Given the description of an element on the screen output the (x, y) to click on. 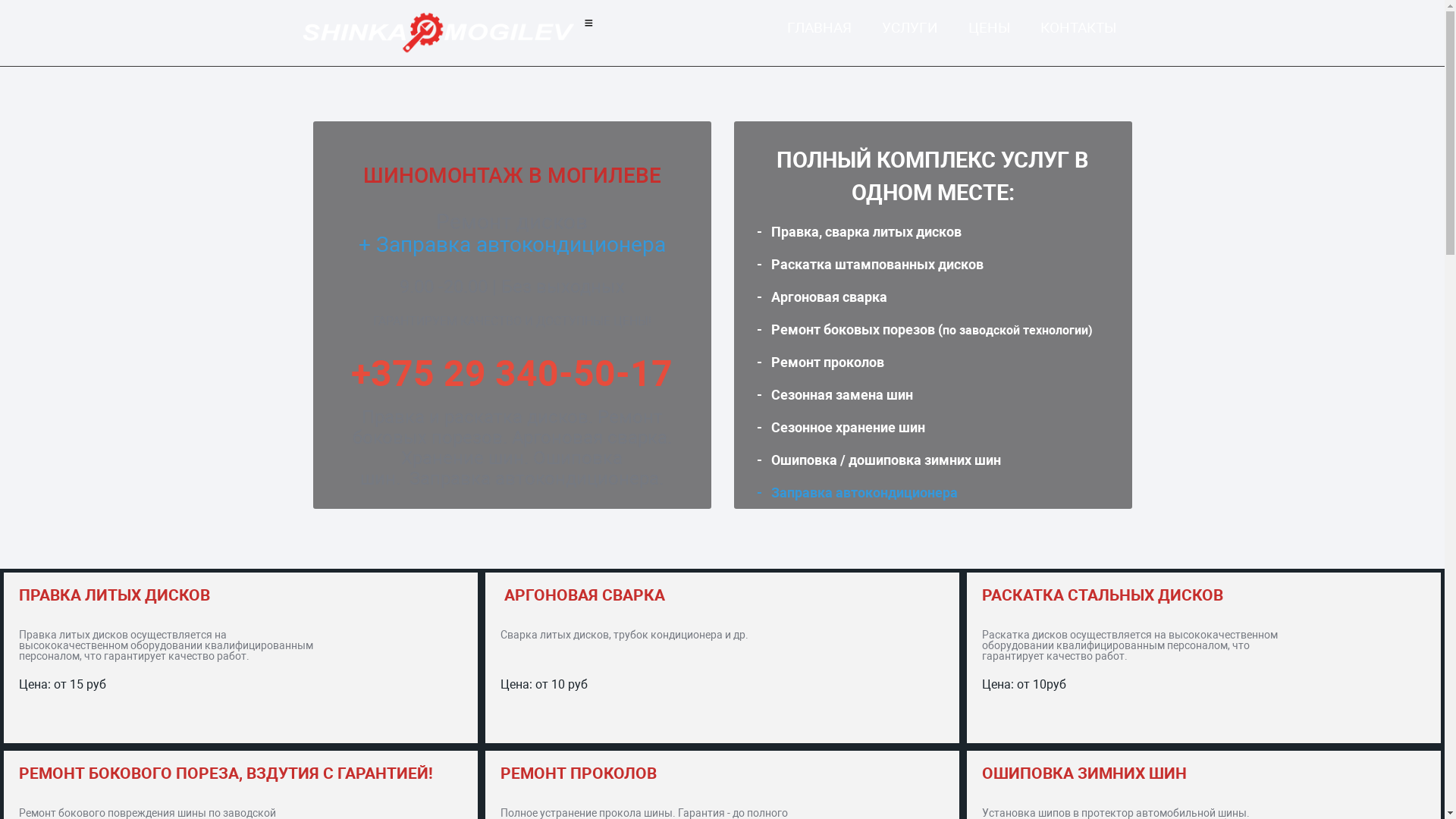
+375 29 340-50-17 Element type: text (511, 373)
